Given the description of an element on the screen output the (x, y) to click on. 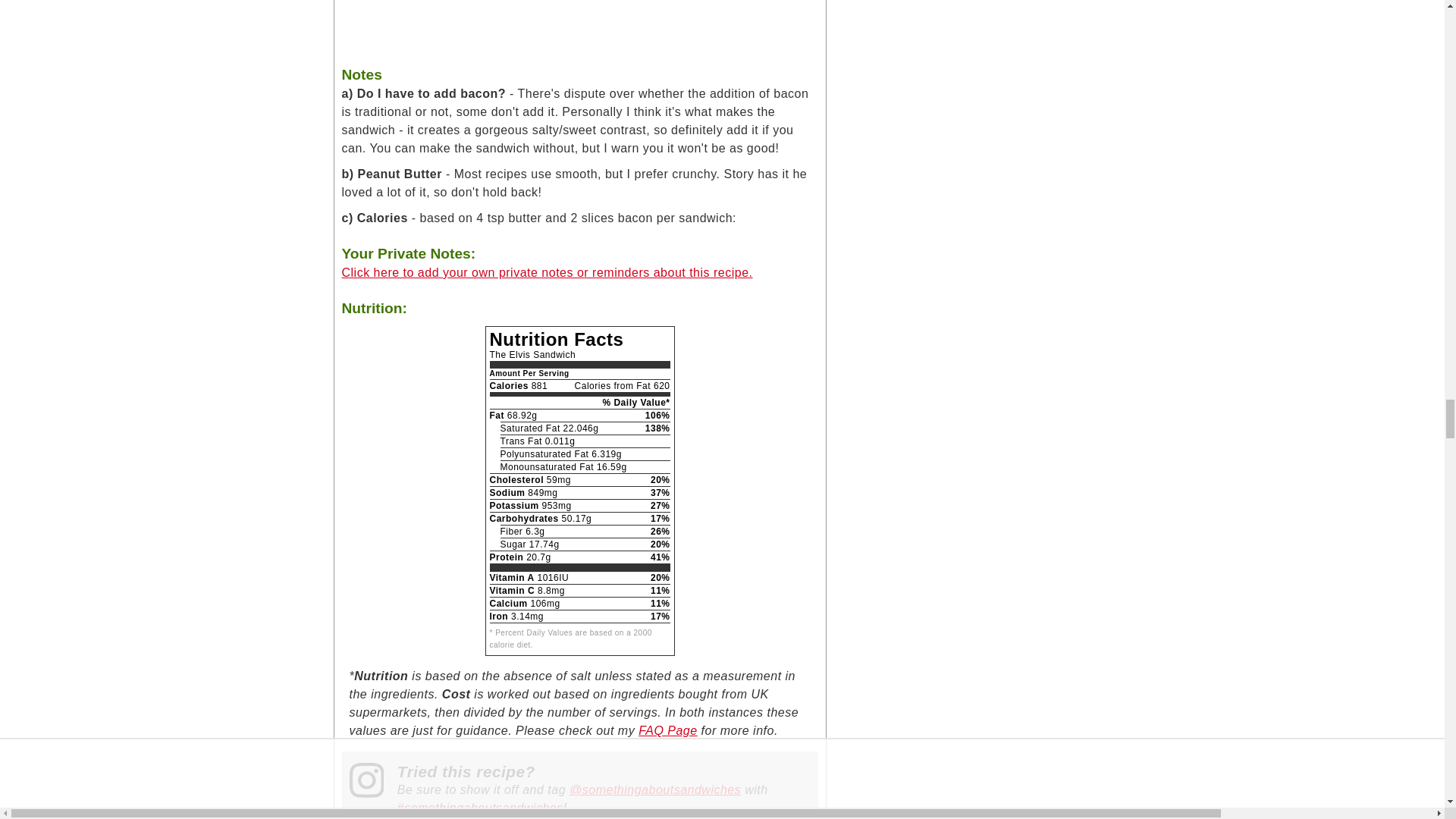
FAQ Page (668, 730)
